Given the description of an element on the screen output the (x, y) to click on. 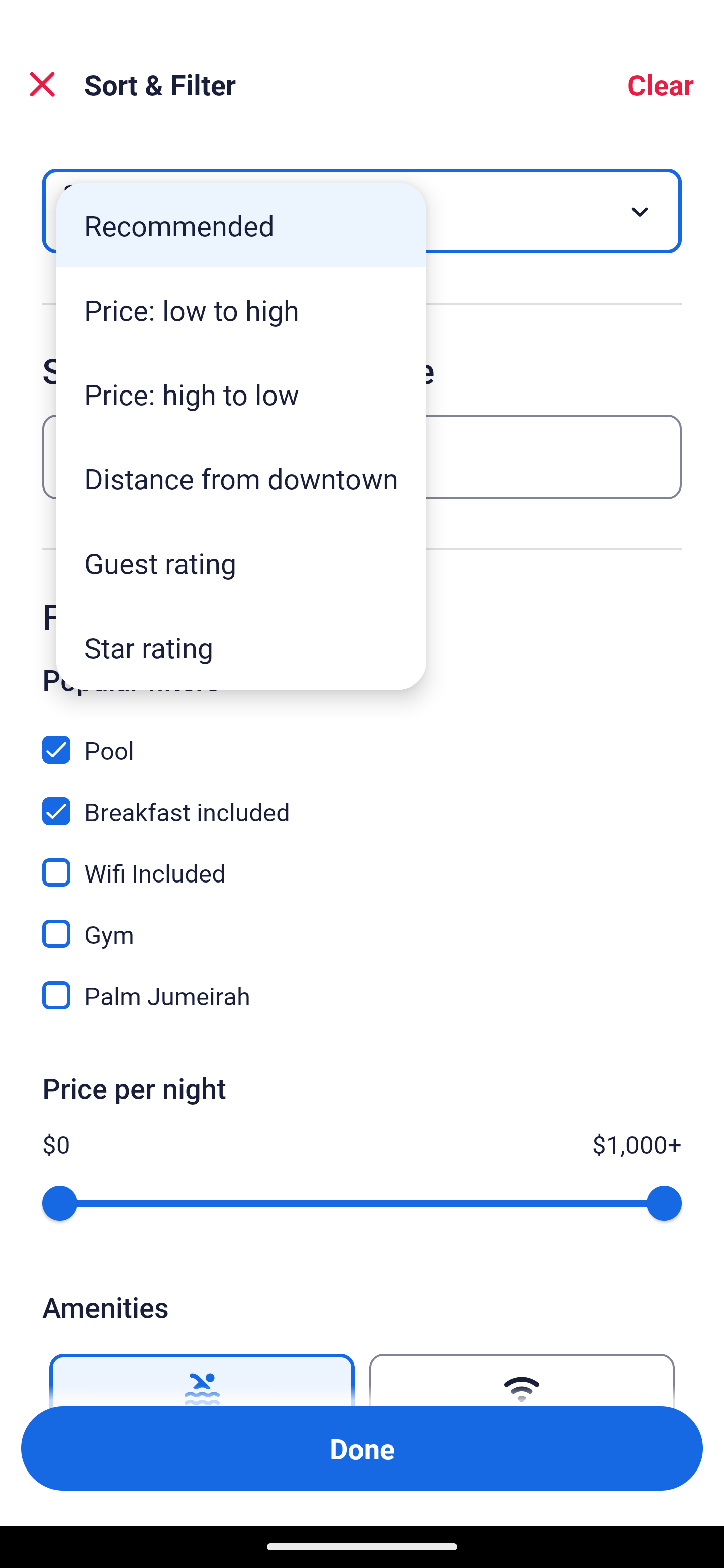
Price: low to high (241, 309)
Price: high to low (241, 393)
Distance from downtown (241, 477)
Guest rating (241, 562)
Star rating (241, 647)
